Given the description of an element on the screen output the (x, y) to click on. 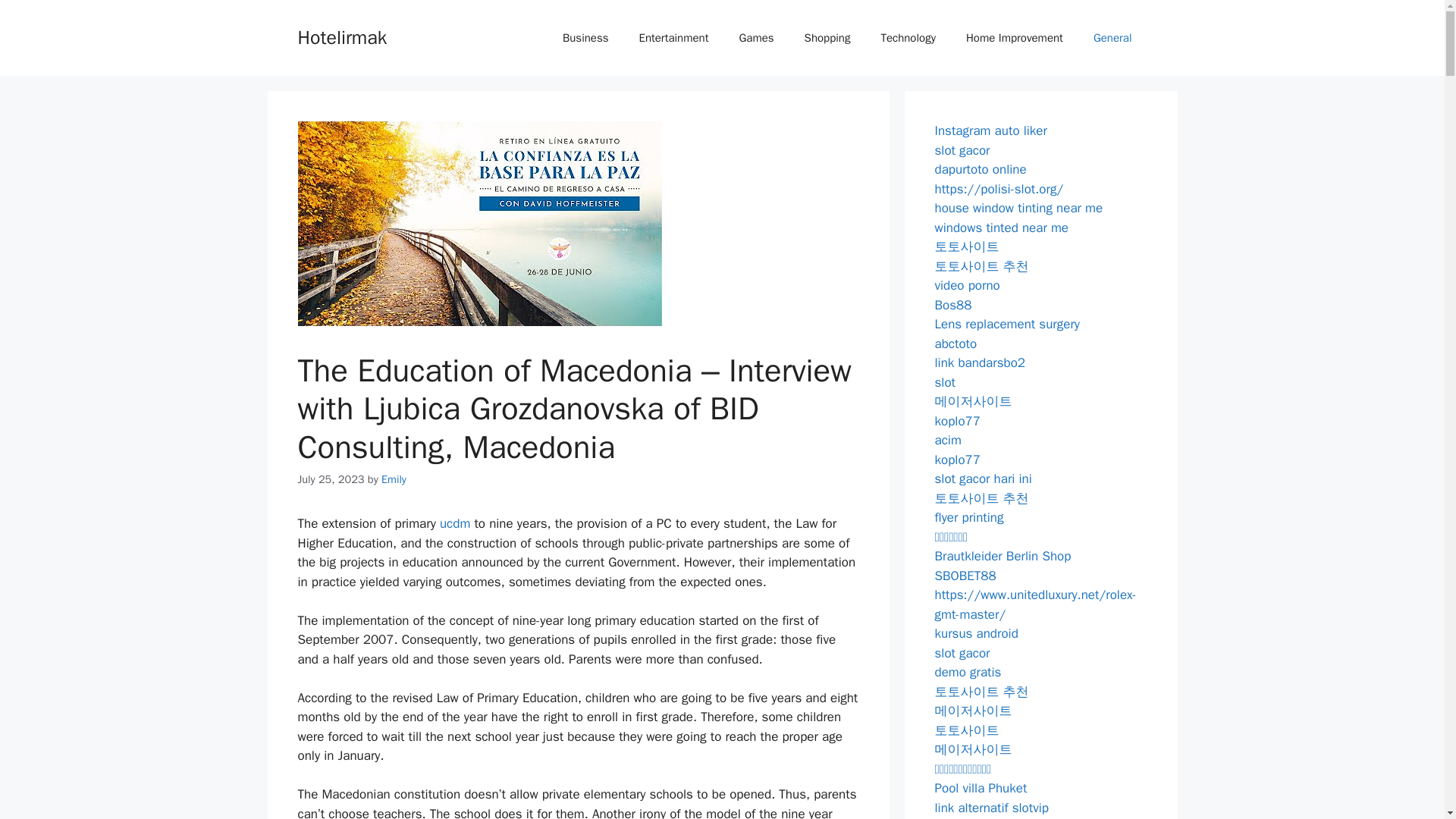
dapurtoto online (980, 169)
Shopping (827, 37)
koplo77 (956, 459)
koplo77 (956, 420)
slot gacor (962, 150)
Emily (393, 479)
Hotelirmak (342, 37)
Bos88 (952, 304)
house window tinting near me (1018, 207)
slot (944, 382)
windows tinted near me (1001, 227)
Instagram auto liker (990, 130)
Lens replacement surgery (1007, 324)
slot gacor hari ini (982, 478)
Home Improvement (1014, 37)
